Given the description of an element on the screen output the (x, y) to click on. 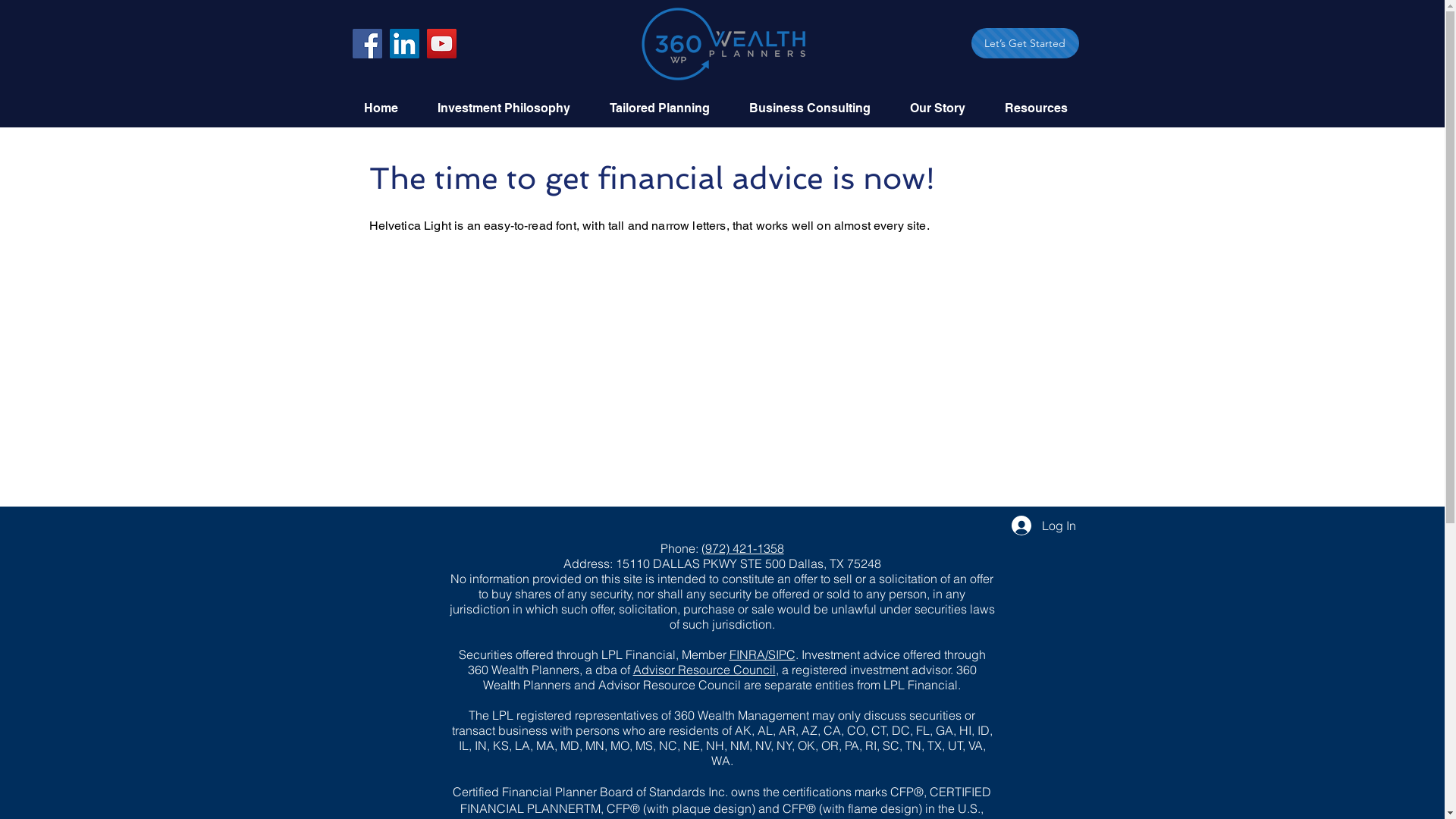
Tailored Planning Element type: text (667, 108)
Investment Philosophy Element type: text (512, 108)
Business Consulting Element type: text (817, 108)
Our Story Element type: text (944, 108)
Home Element type: text (388, 108)
FINRA/SIPC Element type: text (762, 654)
Advisor Resource Council Element type: text (703, 669)
Log In Element type: text (1043, 525)
